Given the description of an element on the screen output the (x, y) to click on. 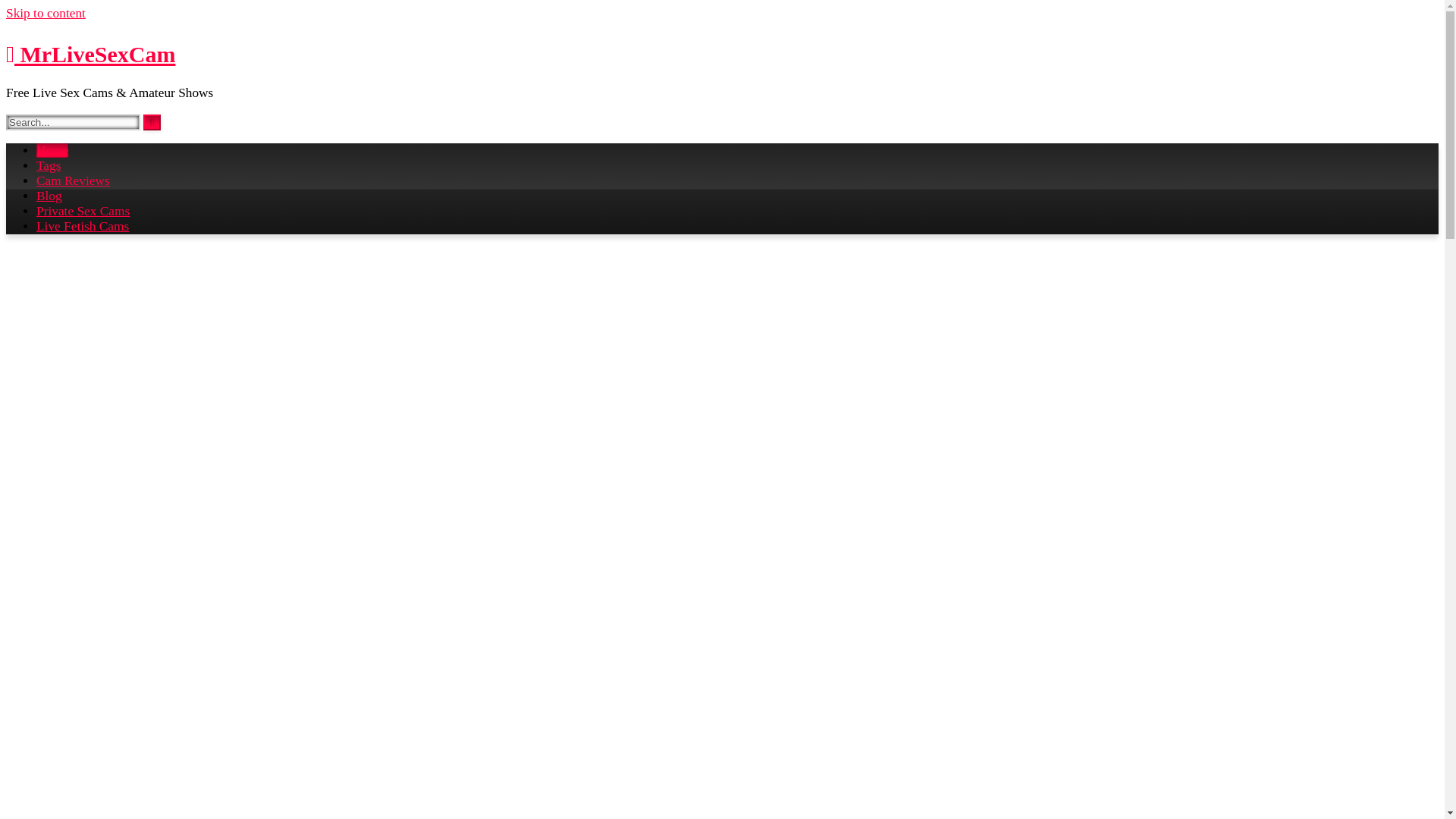
Tags (48, 165)
Skip to content (45, 12)
Home (52, 150)
Search... (72, 122)
MrLiveSexCam (89, 53)
Cam Reviews (73, 180)
Blog (49, 196)
Live Fetish Cams (82, 226)
Private Sex Cams (82, 210)
